Given the description of an element on the screen output the (x, y) to click on. 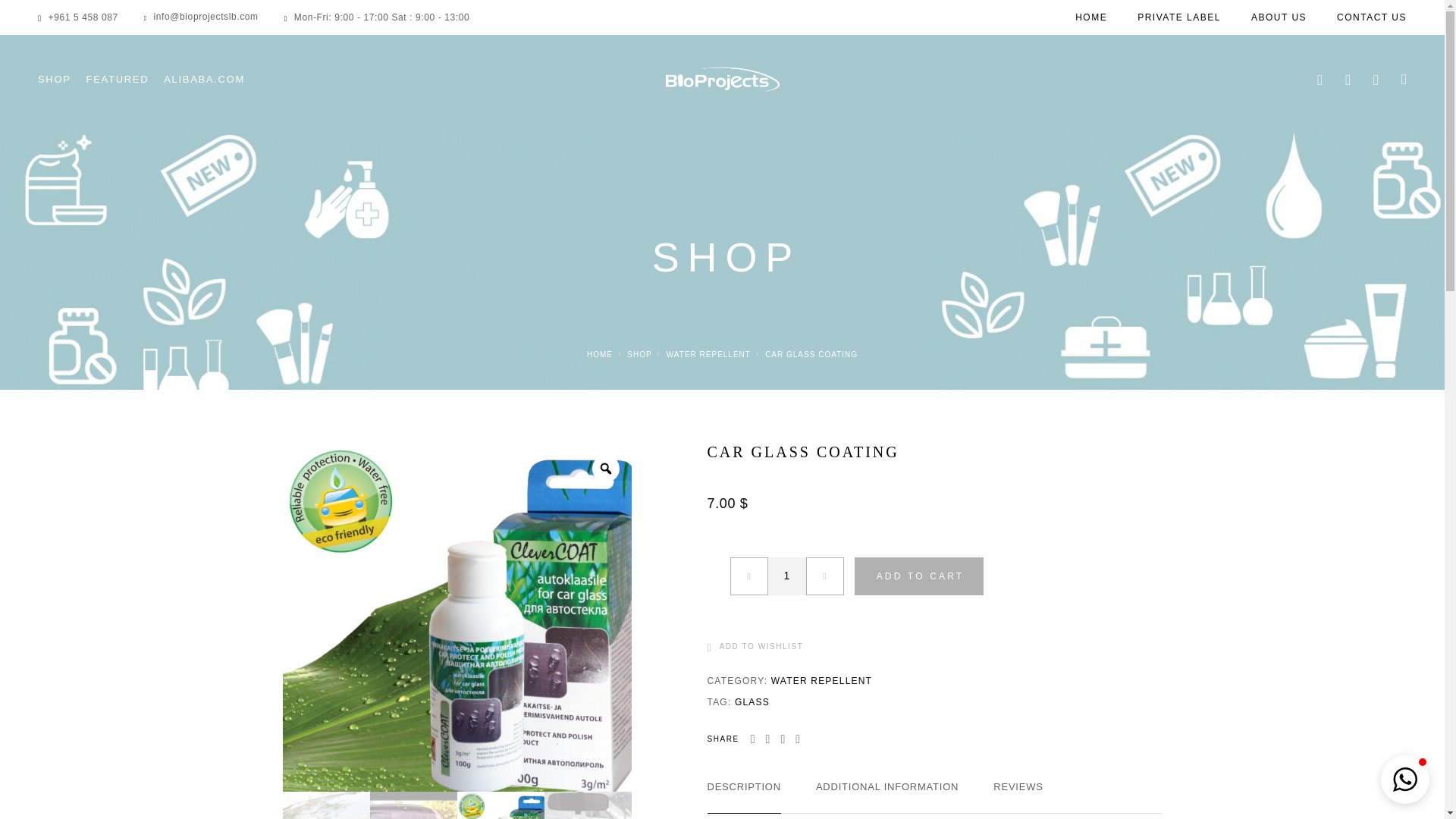
2 (238, 805)
1 (786, 576)
CONTACT US (1371, 17)
4 (141, 617)
HOME (1090, 17)
ABOUT US (1278, 17)
CleverCOAT for Car Glass (456, 617)
SHOP (54, 79)
Login (1347, 79)
PRIVATE LABEL (1179, 17)
